Given the description of an element on the screen output the (x, y) to click on. 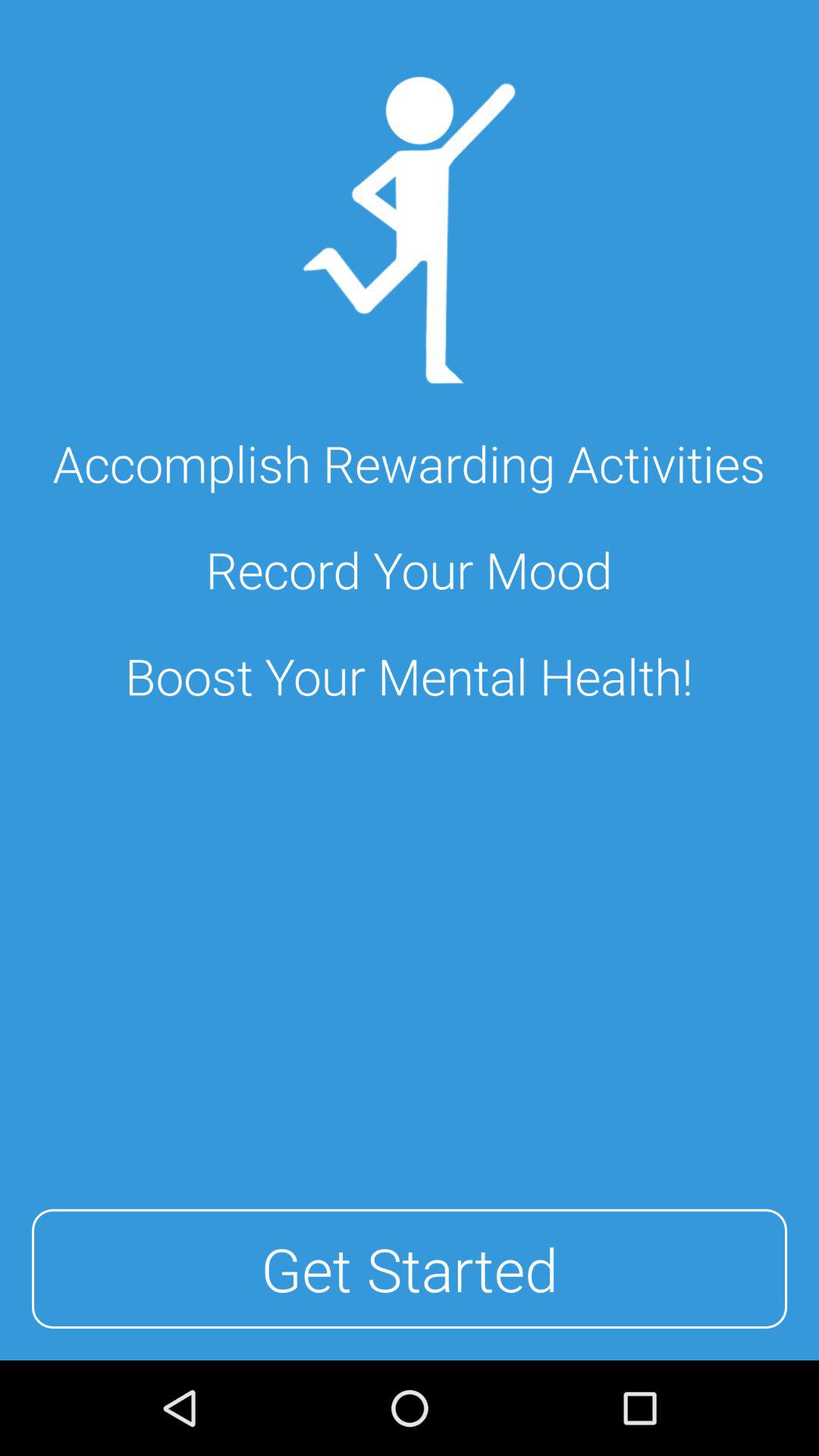
turn on get started (409, 1268)
